Given the description of an element on the screen output the (x, y) to click on. 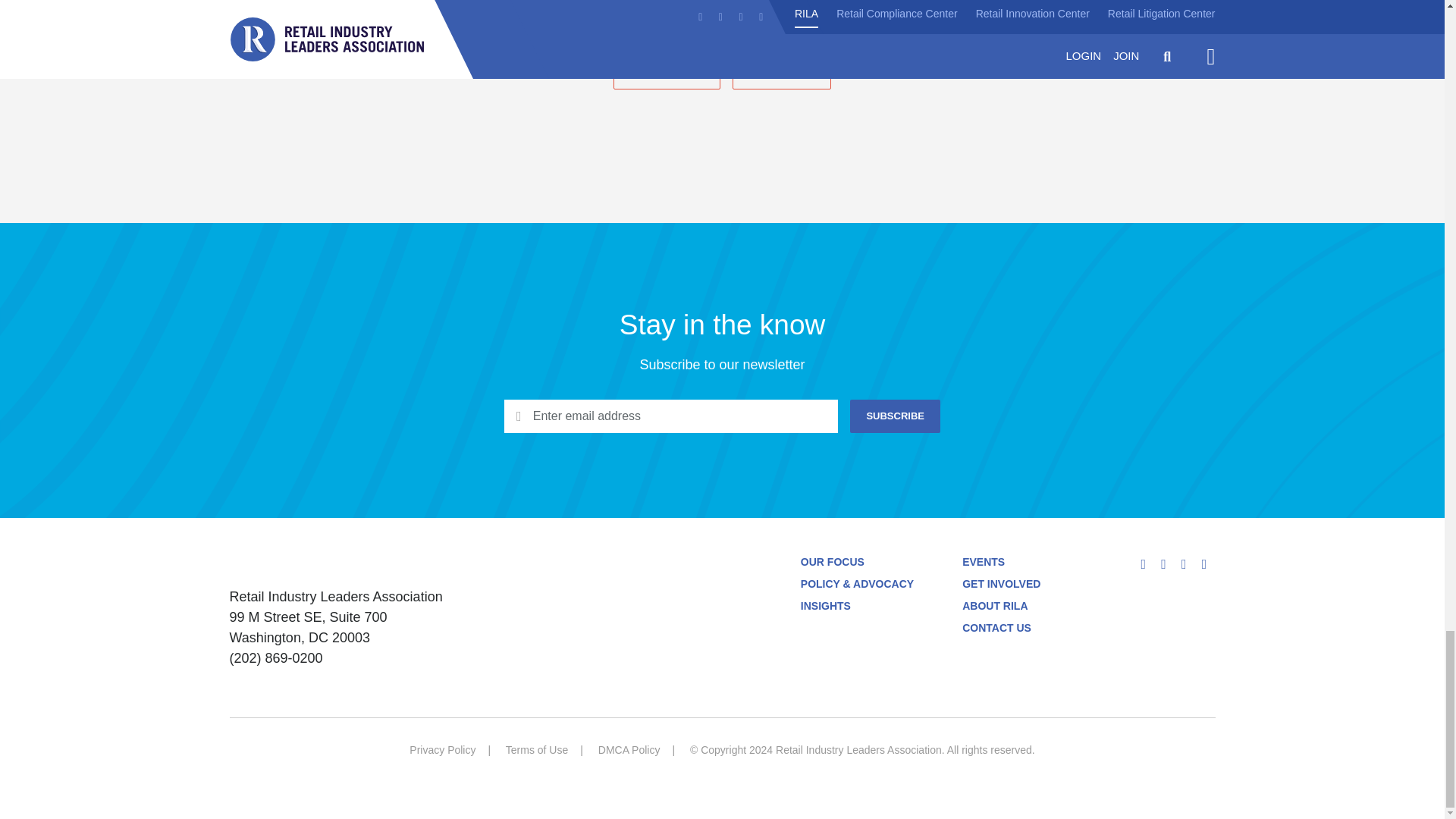
subscribe (895, 416)
